Given the description of an element on the screen output the (x, y) to click on. 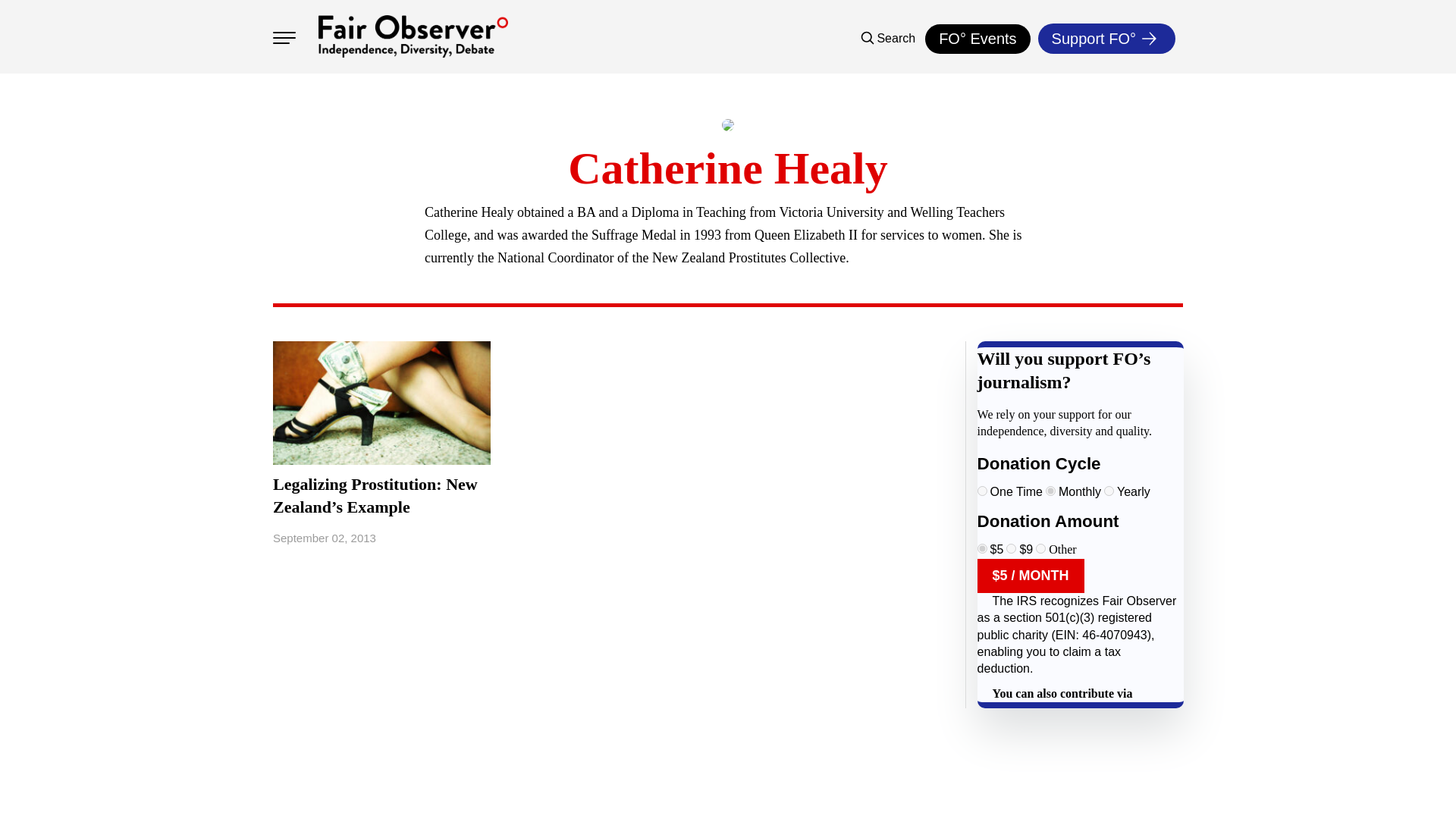
month (1050, 491)
one-time (981, 491)
year (1108, 491)
5 (981, 548)
other (1040, 548)
9 (1011, 548)
Fair Observer Logo (413, 36)
